Given the description of an element on the screen output the (x, y) to click on. 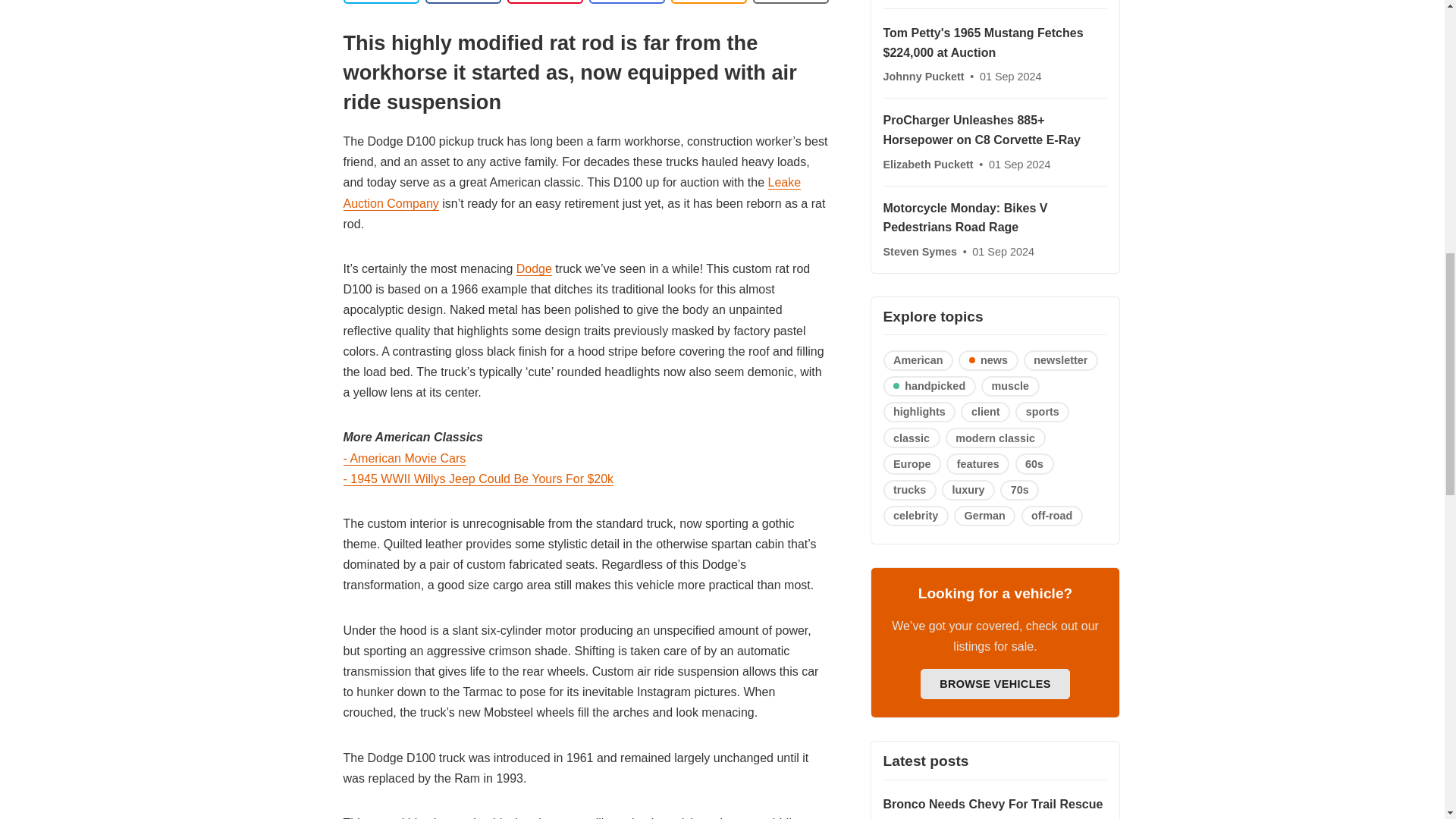
Leake Auction Company (571, 192)
Bookmark (790, 1)
Johnny Puckett (924, 76)
news (987, 360)
- American Movie Cars (403, 459)
Share on Linkedin (544, 1)
American (917, 360)
newsletter (1060, 360)
Steven Symes (920, 251)
Copy to clipboard (707, 1)
